Given the description of an element on the screen output the (x, y) to click on. 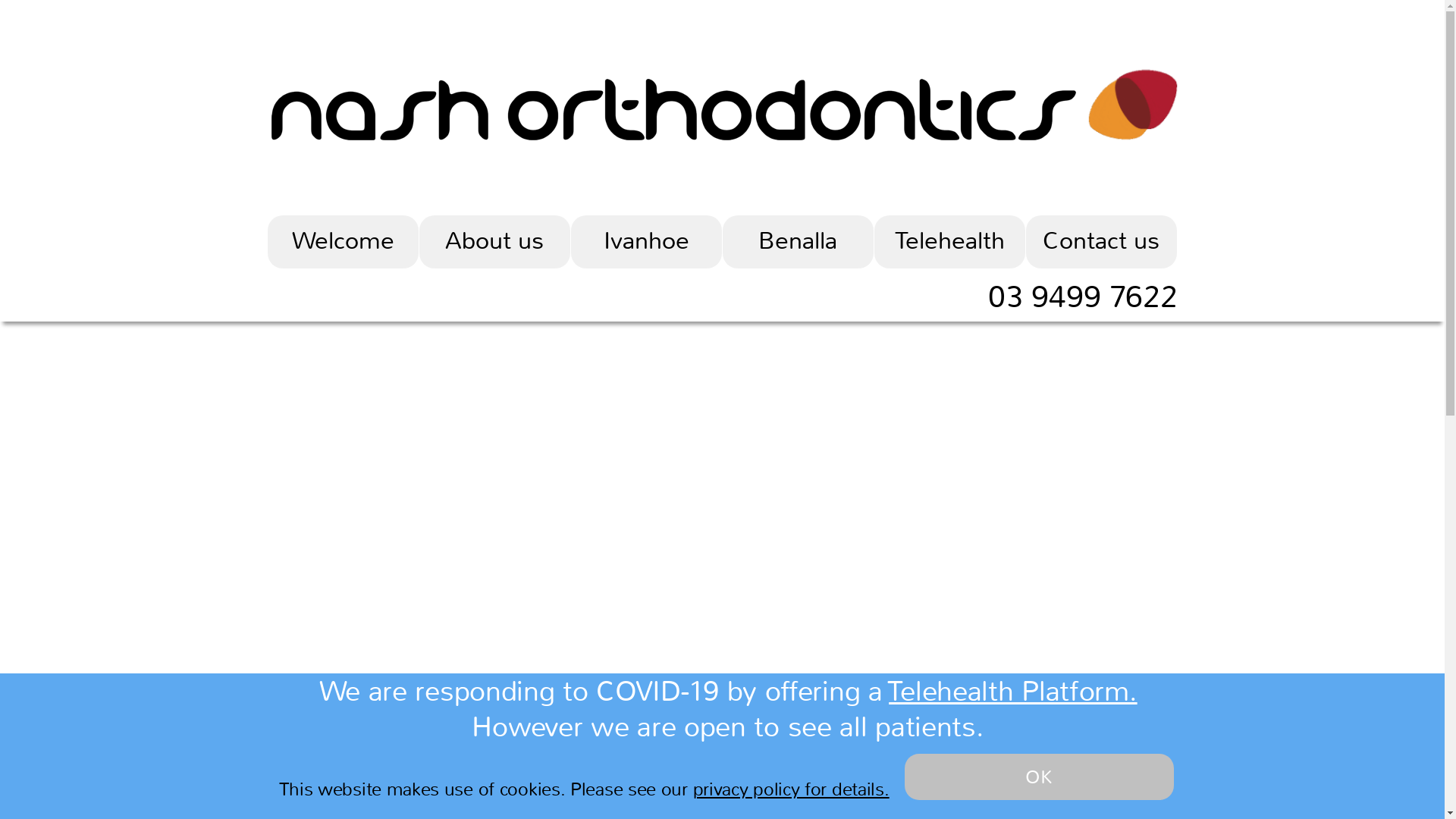
03 9499 7622 Element type: text (1081, 296)
Nash Orthodontics Element type: hover (670, 109)
privacy policy for details. Element type: text (791, 789)
Nash Orthodontics logo Element type: hover (1130, 104)
OK Element type: text (1038, 776)
Telehealth Platform. Element type: text (1012, 691)
